Given the description of an element on the screen output the (x, y) to click on. 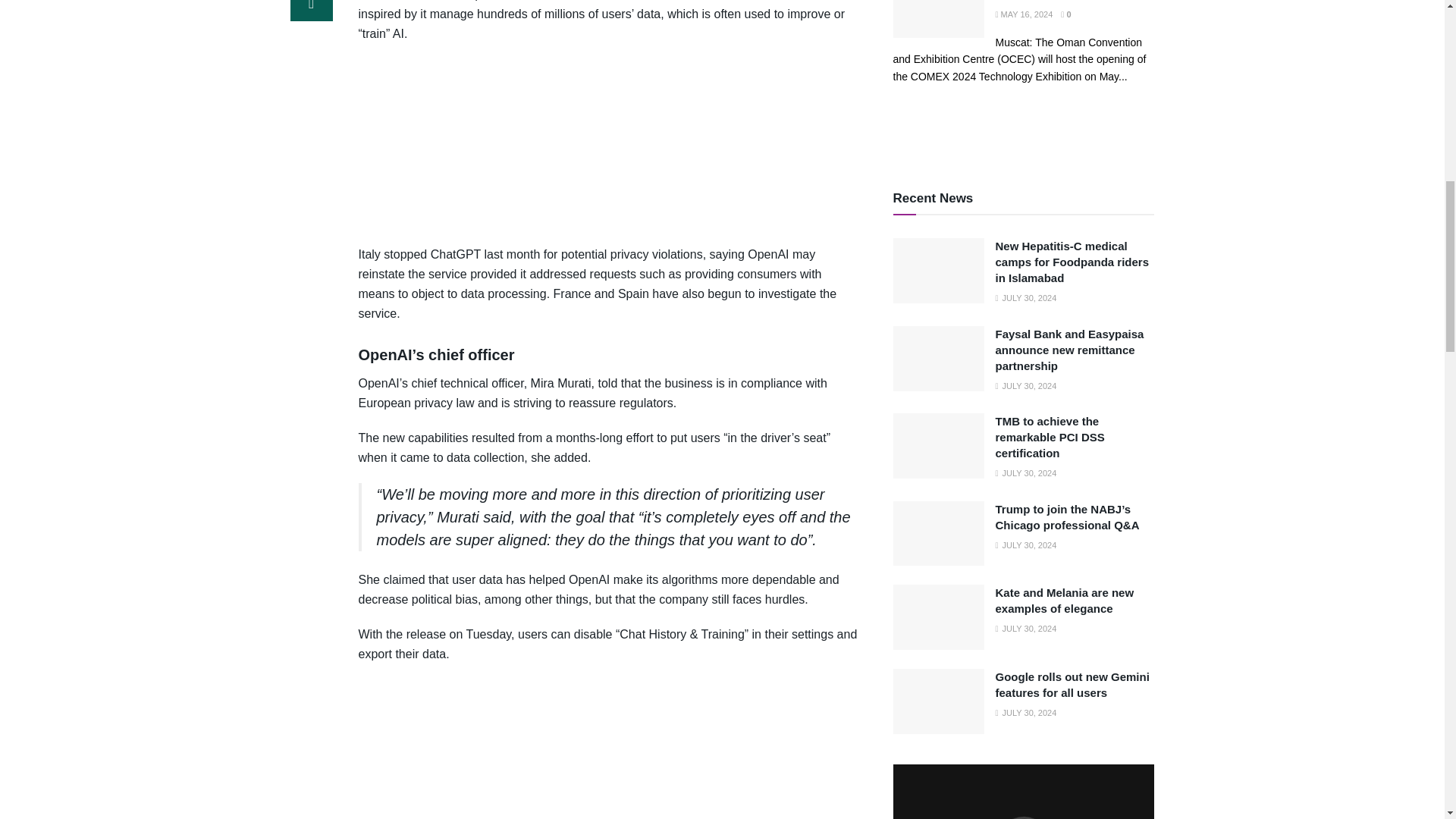
openai-chatgpt-reuters- - TechX Pakistan (608, 144)
